Given the description of an element on the screen output the (x, y) to click on. 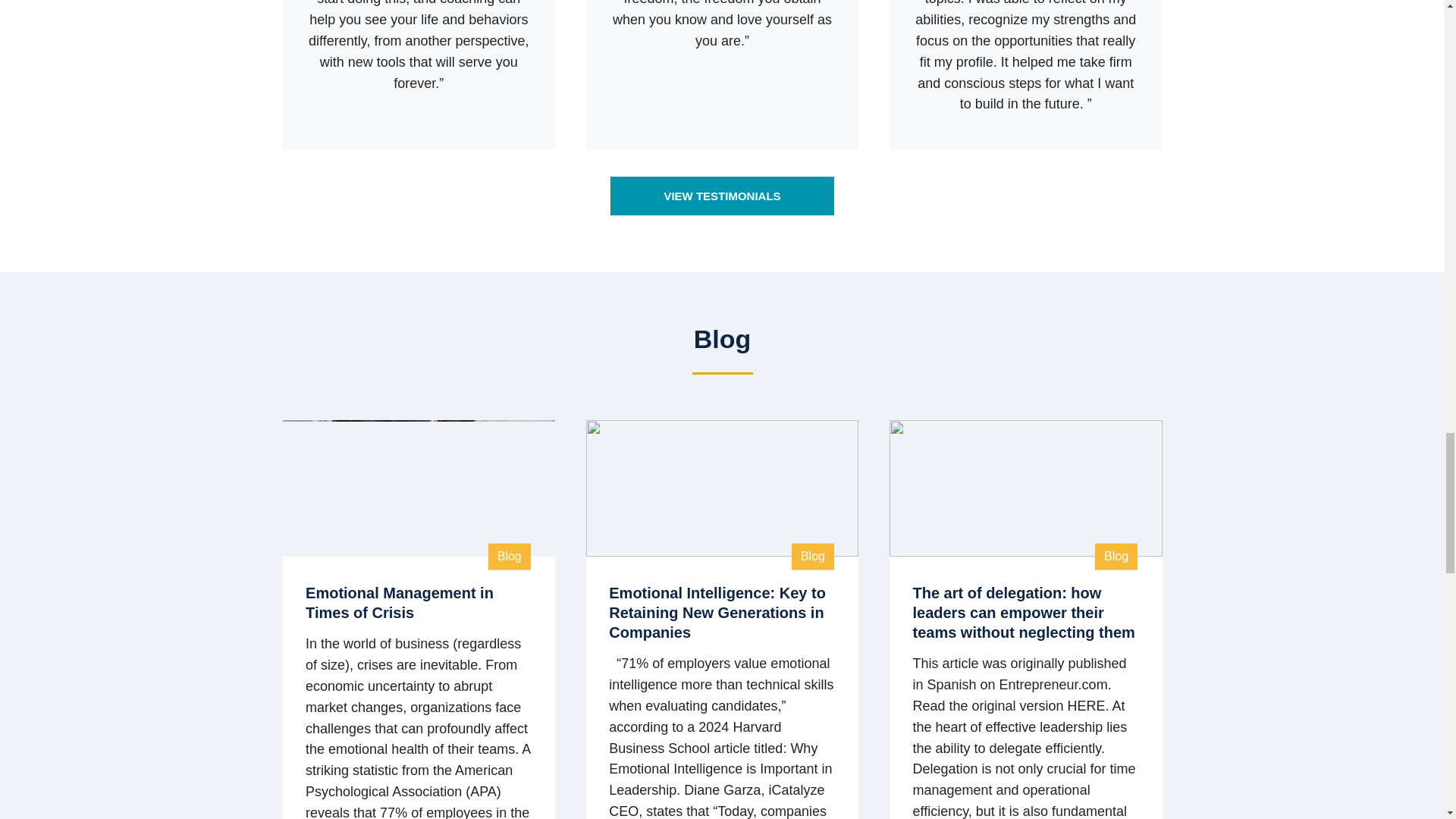
Blog (813, 556)
Blog (509, 556)
VIEW TESTIMONIALS (721, 195)
Emotional Management in Times of Crisis (399, 602)
